Given the description of an element on the screen output the (x, y) to click on. 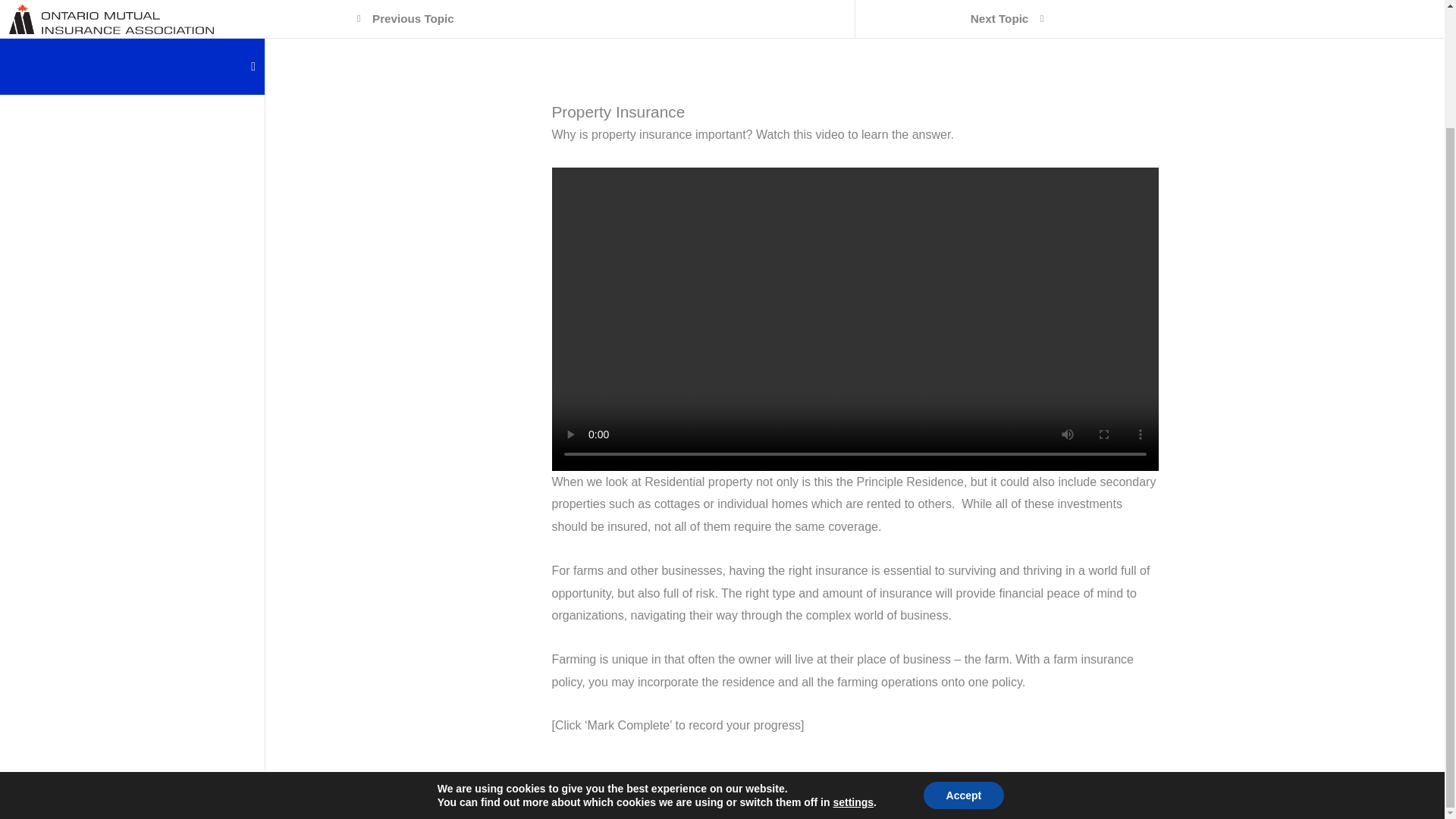
Accept (963, 654)
settings (852, 661)
